Given the description of an element on the screen output the (x, y) to click on. 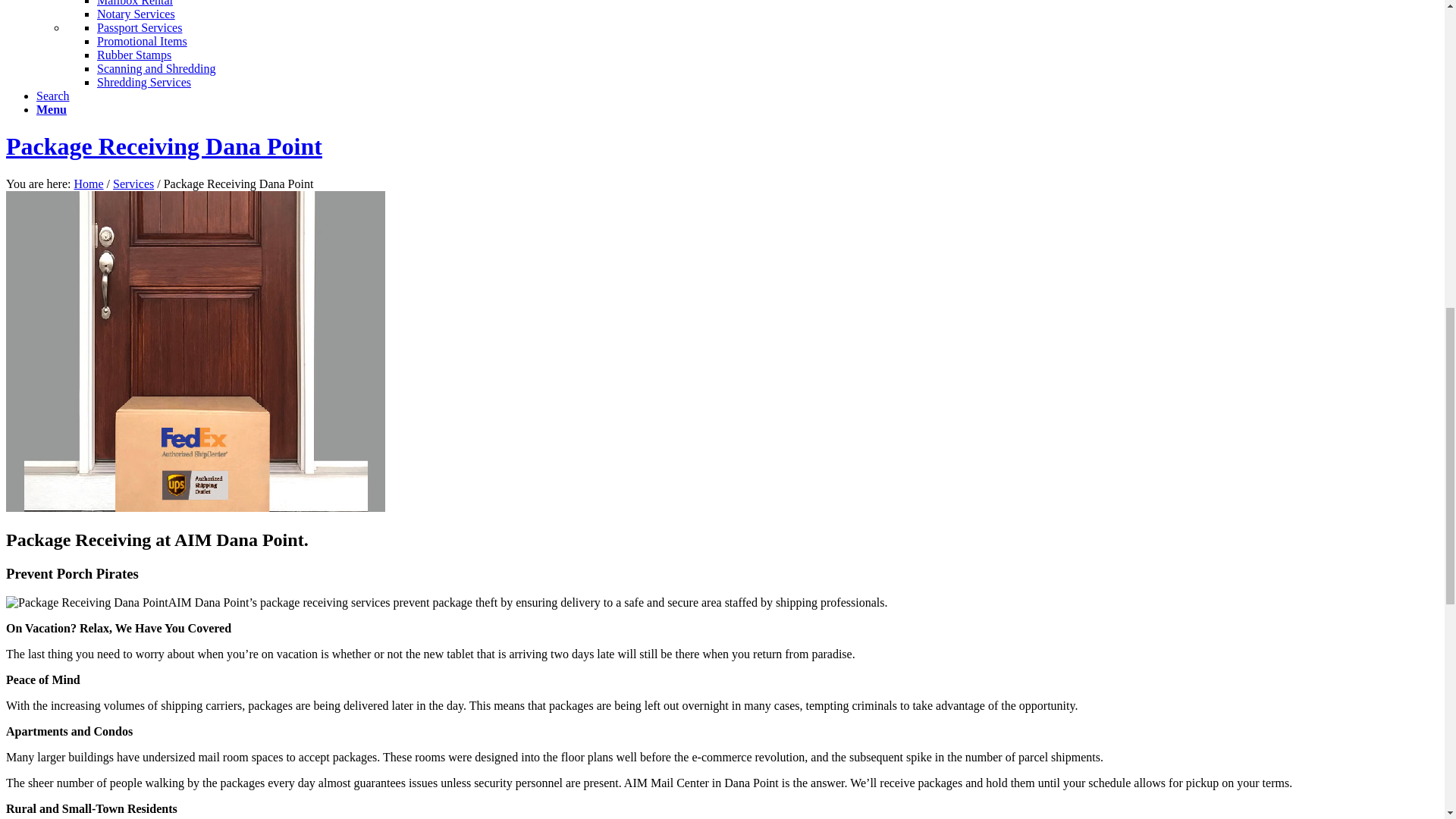
Services (133, 183)
We Ship Dana Point, CA (88, 183)
Permanent Link: Package Receiving Dana Point (163, 145)
